Given the description of an element on the screen output the (x, y) to click on. 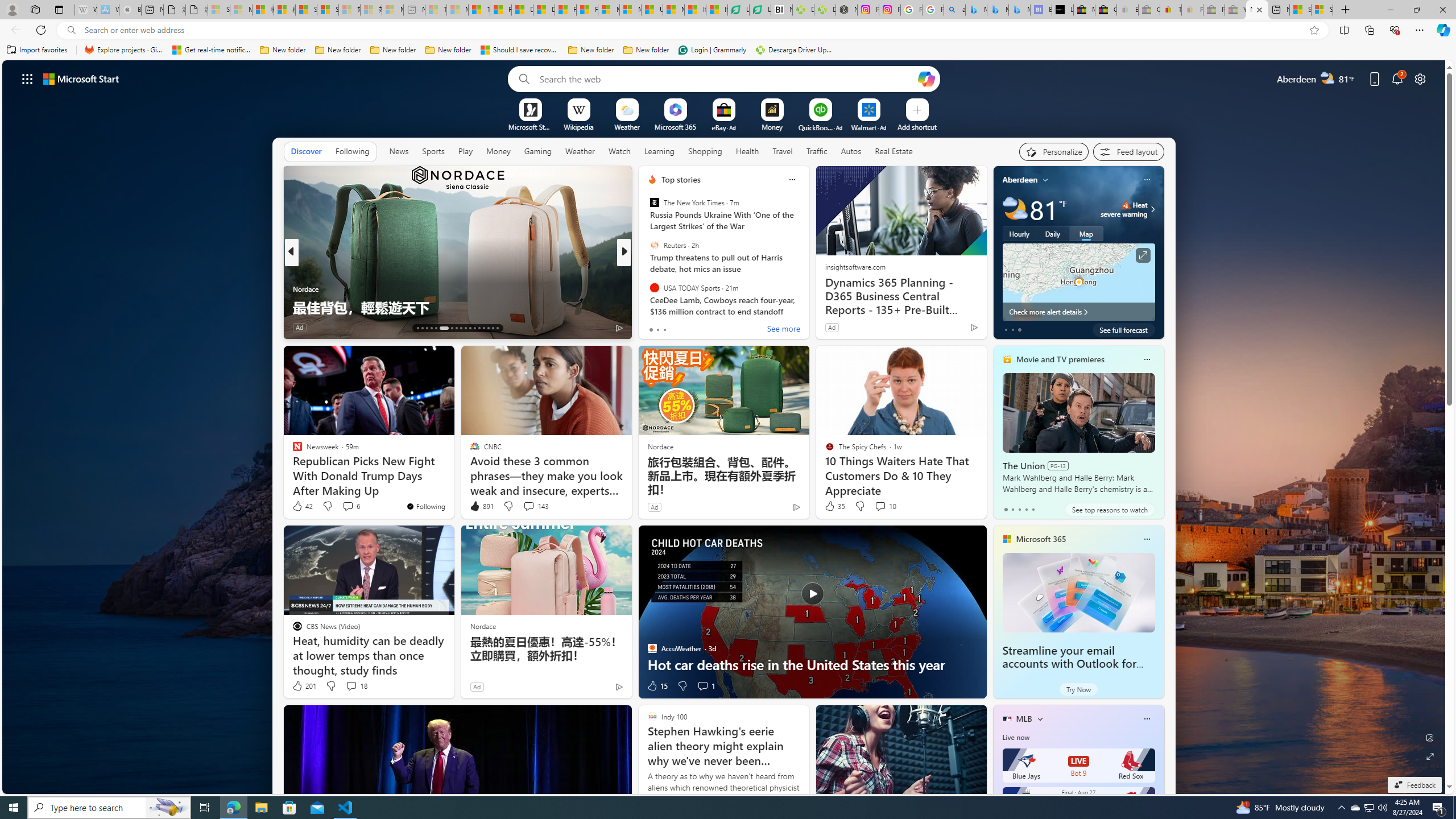
Aberdeen (1019, 179)
View comments 6 Comment (350, 505)
Nordace - Nordace Edin Collection (846, 9)
Click to see more information (1142, 255)
Lifestyle Trends (647, 288)
Check more alert details (1077, 311)
LendingTree - Compare Lenders (760, 9)
View comments 3 Comment (705, 327)
Shanghai, China hourly forecast | Microsoft Weather (1300, 9)
